Given the description of an element on the screen output the (x, y) to click on. 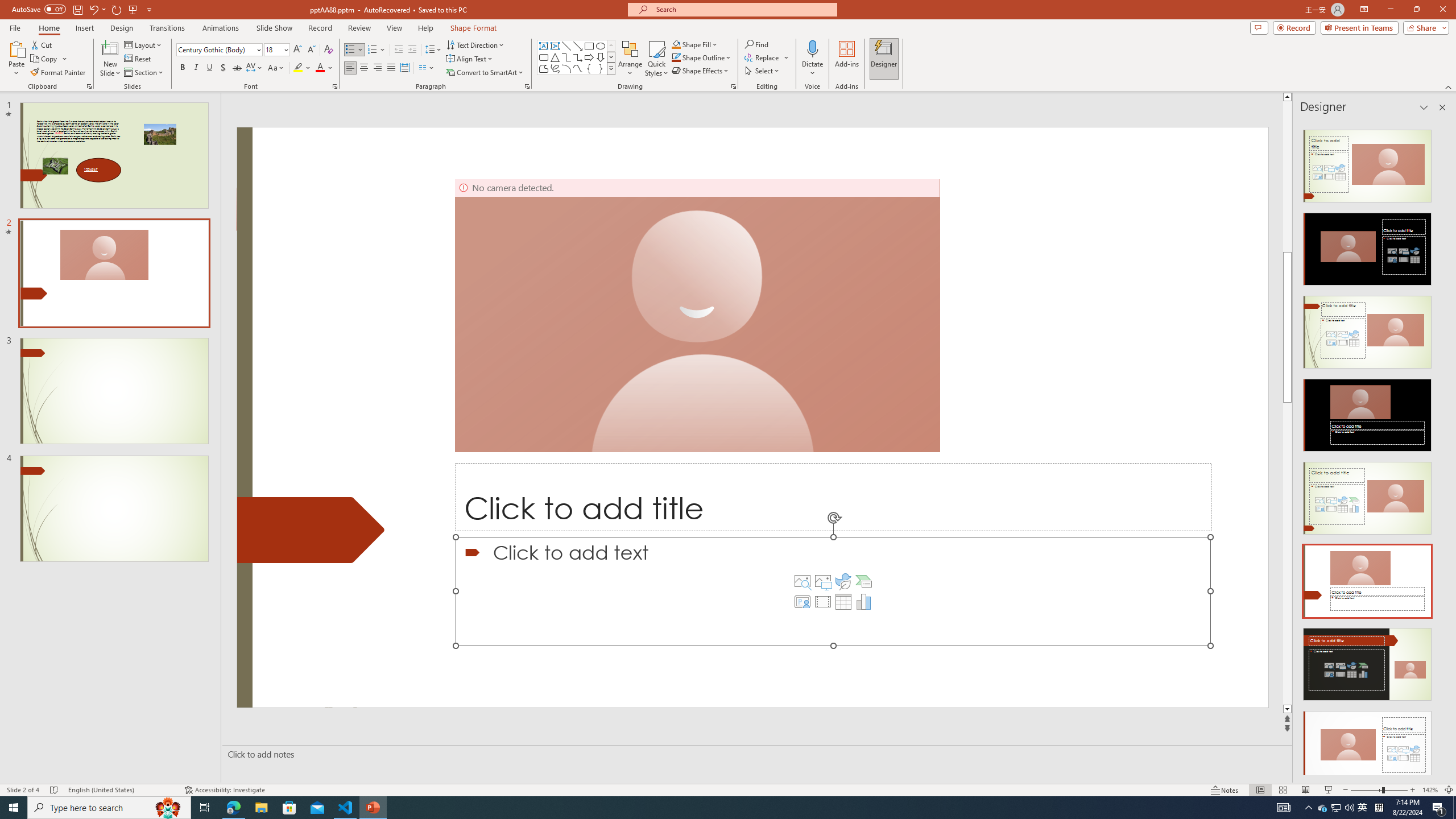
Shape Fill Aqua, Accent 2 (675, 44)
